Given the description of an element on the screen output the (x, y) to click on. 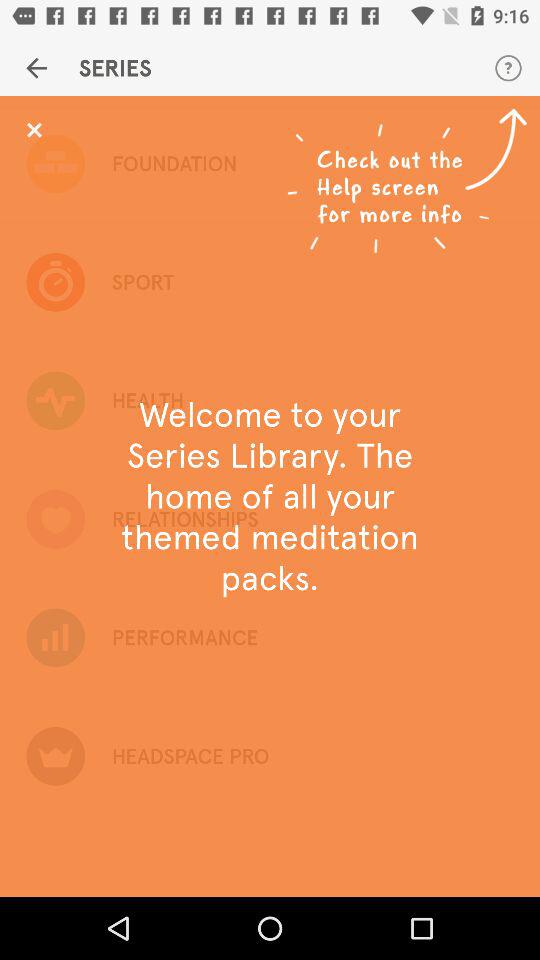
close help (33, 129)
